Given the description of an element on the screen output the (x, y) to click on. 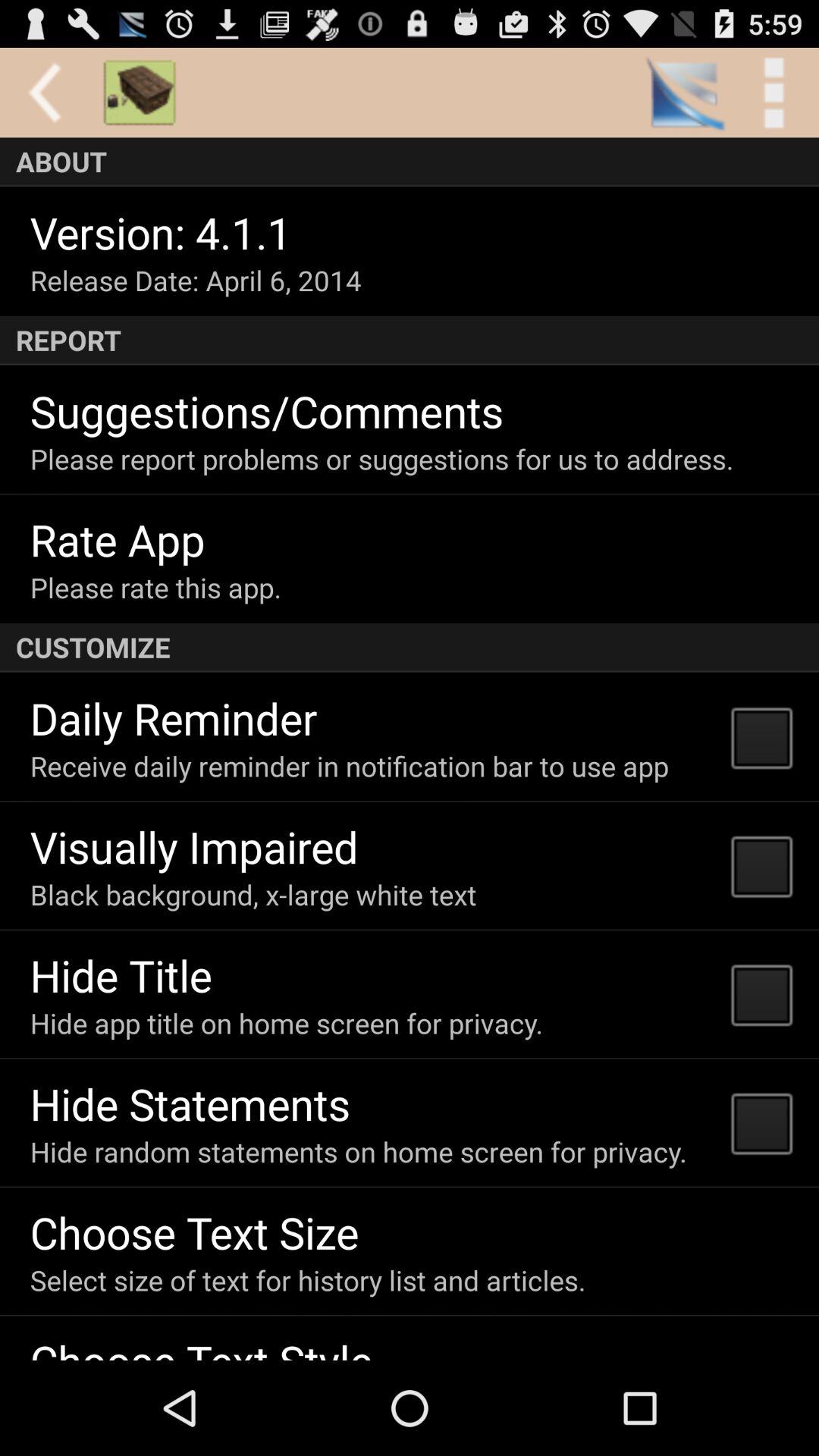
press item above the report icon (195, 280)
